Given the description of an element on the screen output the (x, y) to click on. 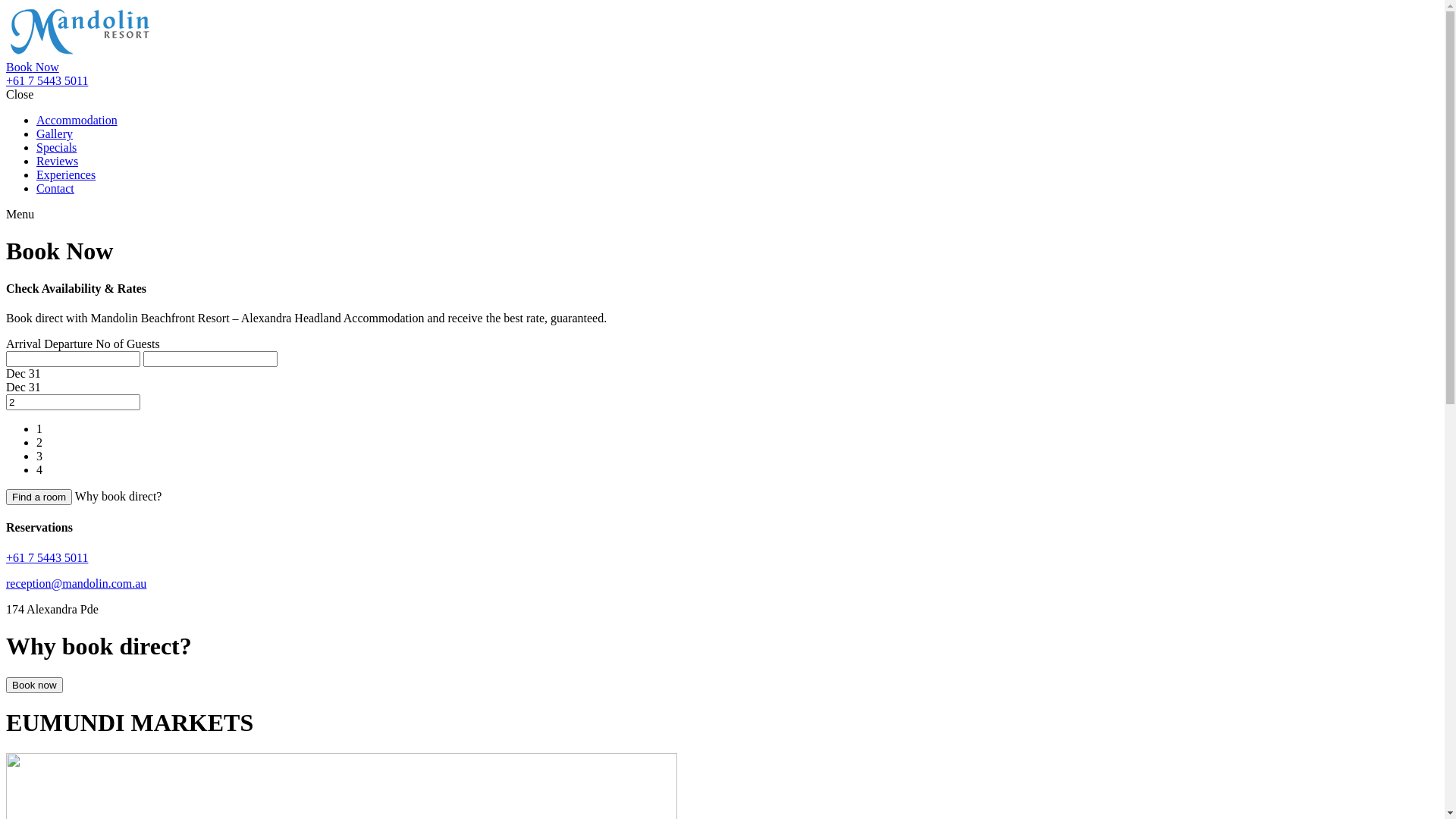
+61 7 5443 5011 Element type: text (46, 557)
Reviews Element type: text (57, 160)
Dec 31 Element type: text (23, 386)
Close Element type: text (19, 93)
Why book direct? Element type: text (118, 495)
Menu Element type: text (20, 213)
Experiences Element type: text (65, 174)
Specials Element type: text (56, 147)
reception@mandolin.com.au Element type: text (76, 583)
Dec 31 Element type: text (23, 373)
Gallery Element type: text (54, 133)
Contact Element type: text (55, 188)
Find a room Element type: text (39, 497)
Book now Element type: text (34, 685)
1
2
3
4 Element type: text (722, 435)
+61 7 5443 5011 Element type: text (46, 80)
Accommodation Element type: text (76, 119)
Book Now Element type: text (32, 66)
